Given the description of an element on the screen output the (x, y) to click on. 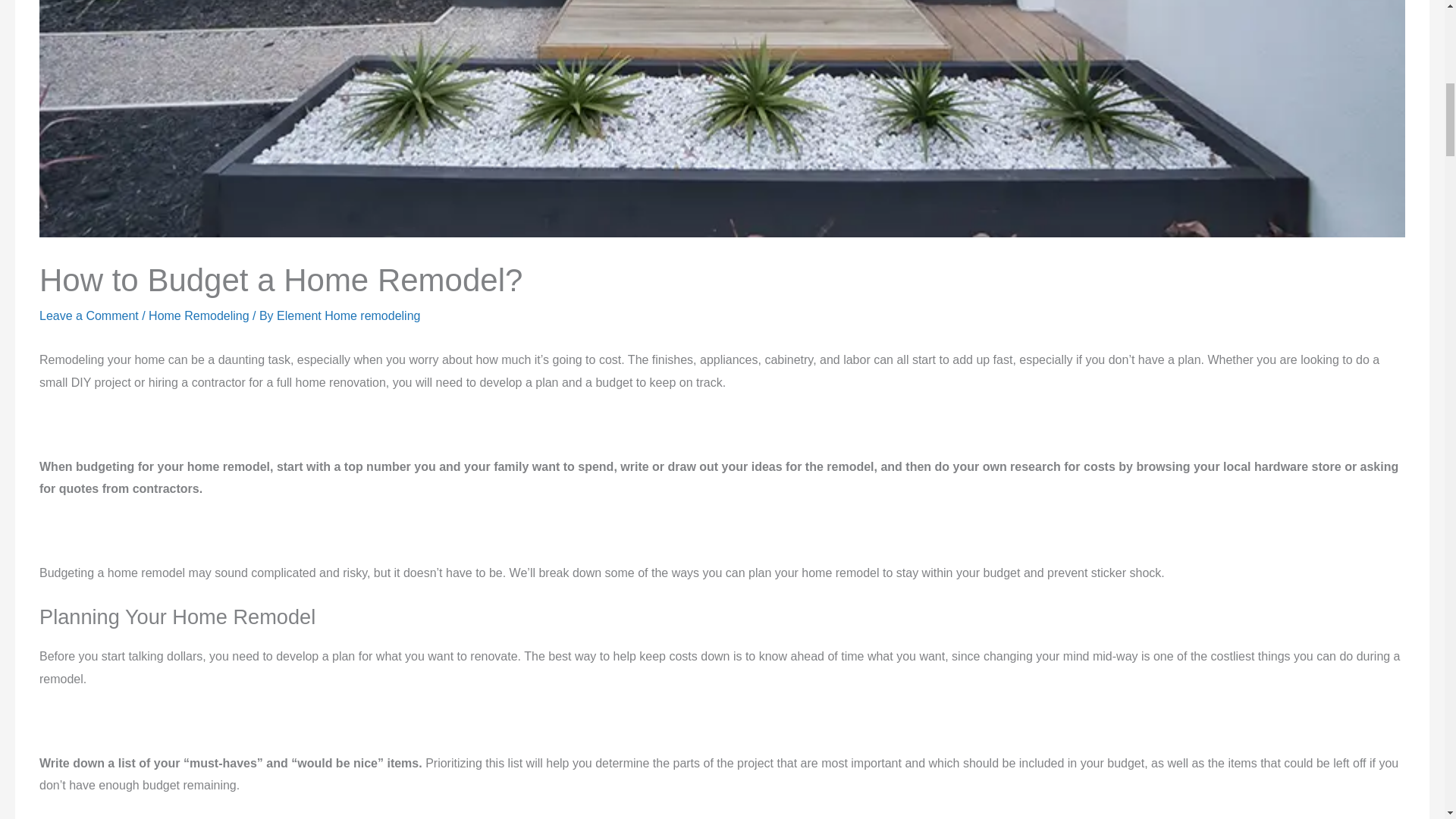
Home Remodeling (198, 345)
Leave a Comment (88, 345)
View all posts by Element Home remodeling (348, 345)
Element Home remodeling (348, 345)
